Given the description of an element on the screen output the (x, y) to click on. 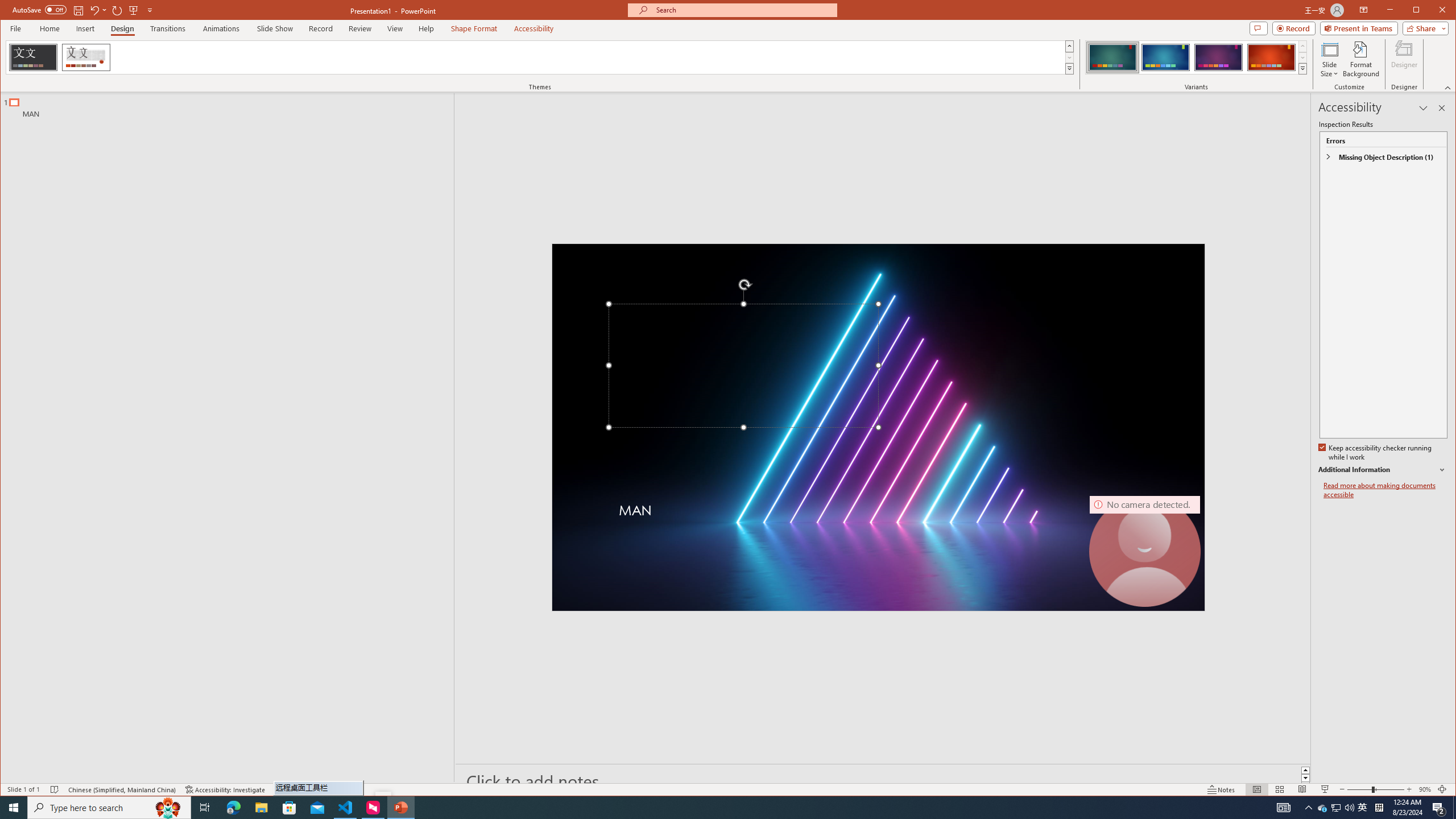
Ion Variant 2 (1165, 57)
AutomationID: SlideThemesGallery (540, 57)
Wood Type (85, 57)
